Given the description of an element on the screen output the (x, y) to click on. 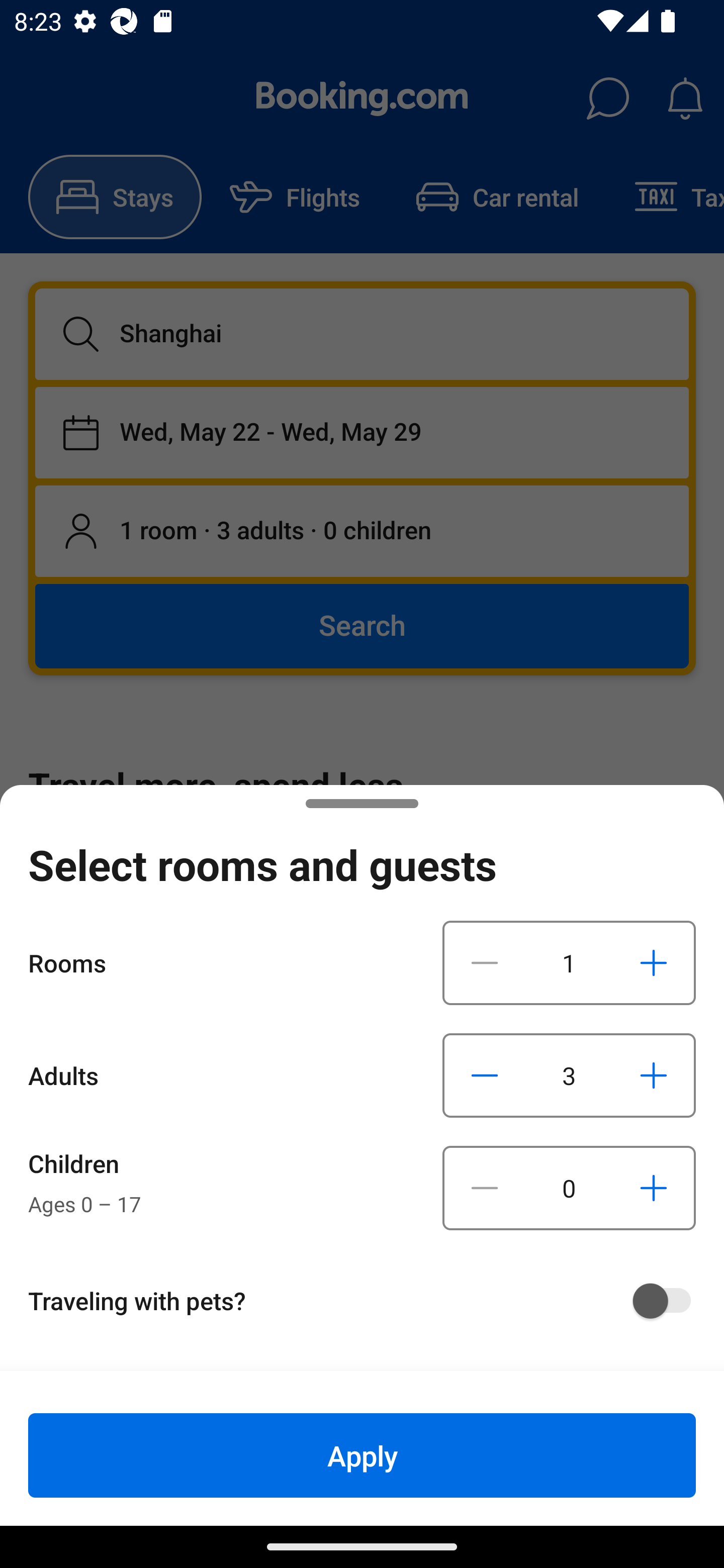
Decrease (484, 962)
Increase (653, 962)
Decrease (484, 1075)
Increase (653, 1075)
Decrease (484, 1188)
Increase (653, 1188)
Traveling with pets? (369, 1300)
Apply (361, 1454)
